Given the description of an element on the screen output the (x, y) to click on. 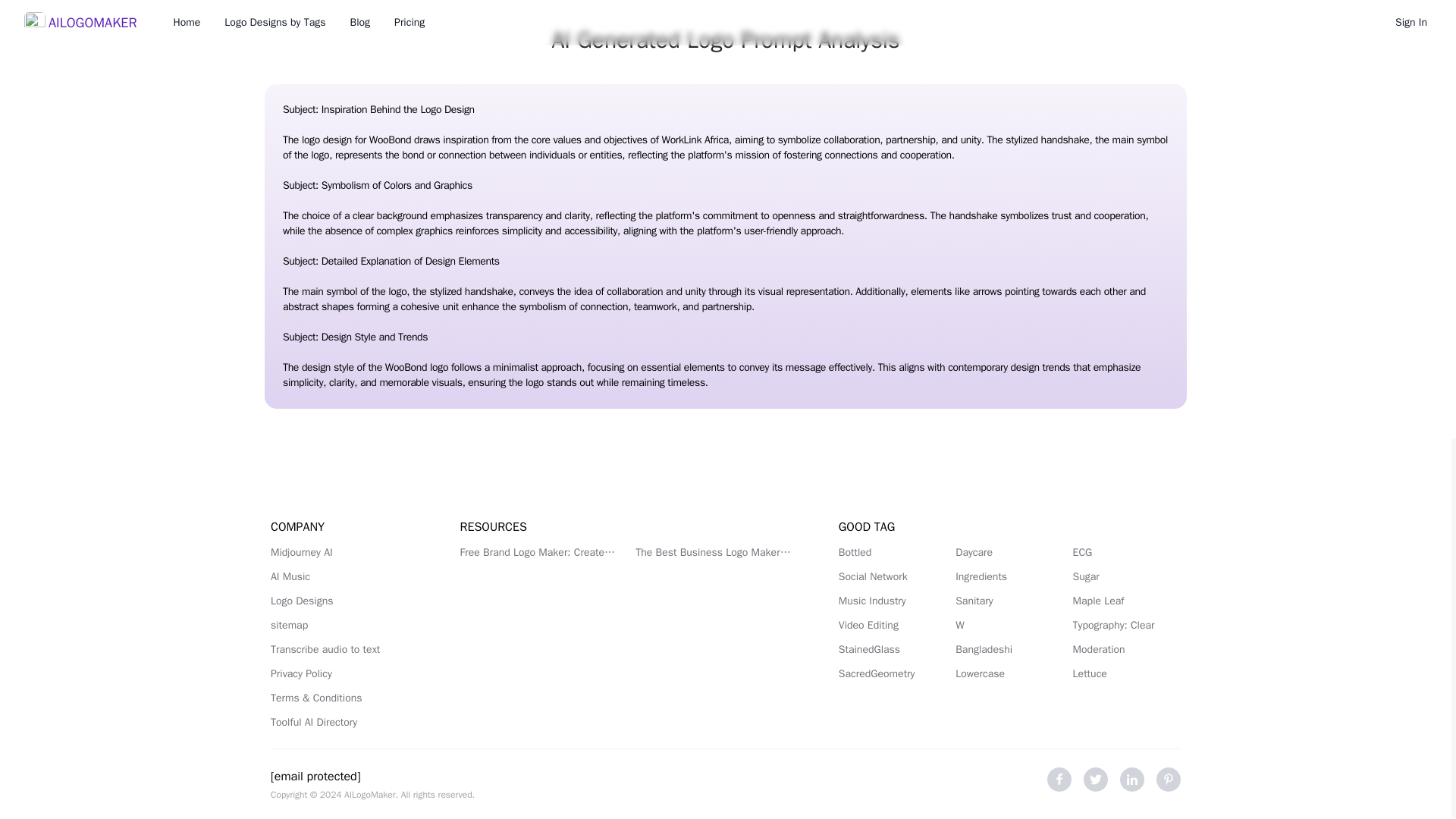
Sanitary (1008, 601)
Sugar (1126, 576)
Maple Leaf (1126, 601)
Logo Designs (346, 601)
Privacy Policy (346, 673)
Transcribe audio to text (346, 649)
Midjourney AI (346, 552)
sitemap (346, 625)
AI Music (346, 576)
Privacy Policy (346, 673)
